Given the description of an element on the screen output the (x, y) to click on. 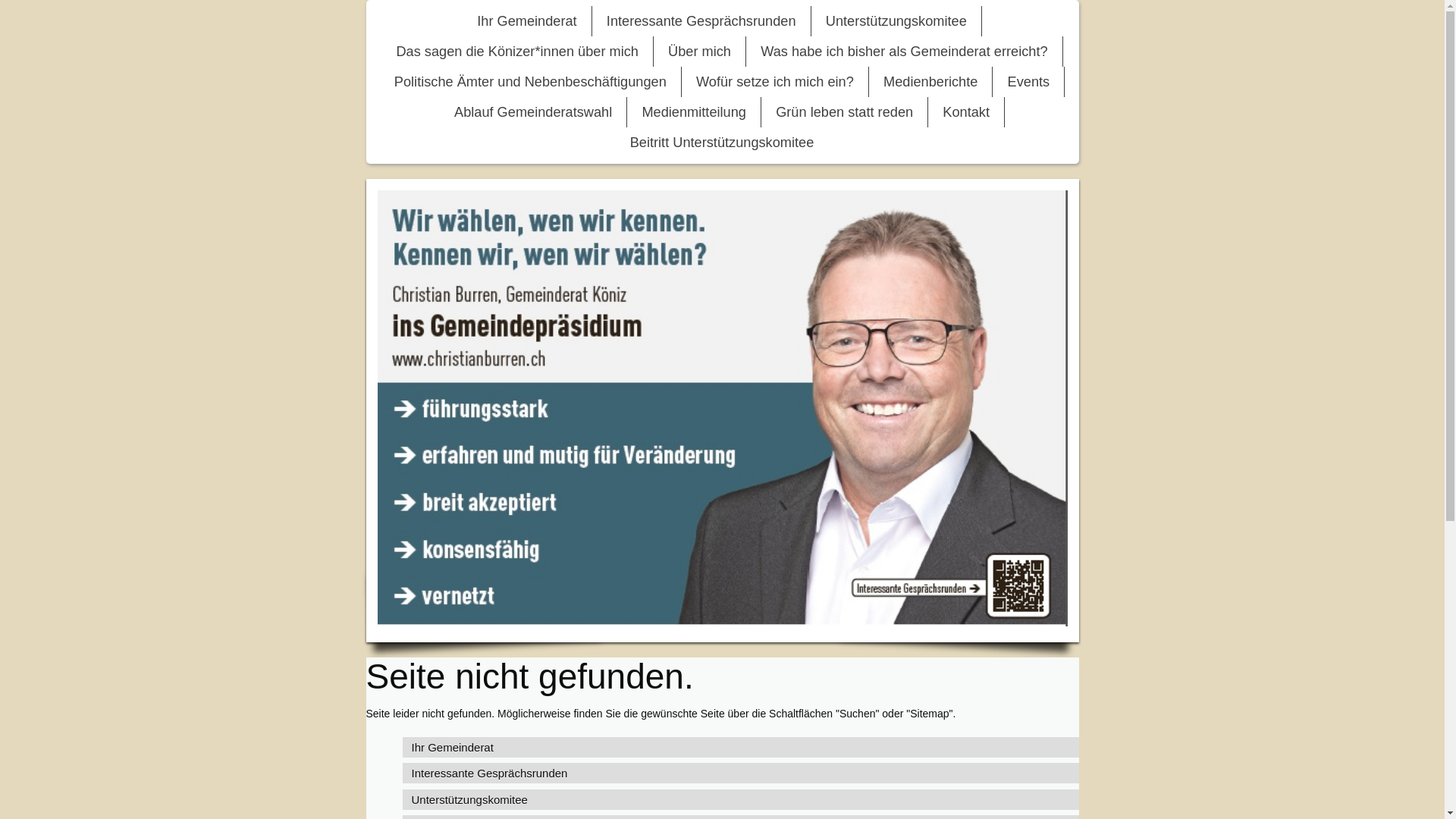
Ihr Gemeinderat Element type: text (526, 20)
Medienberichte Element type: text (930, 81)
Was habe ich bisher als Gemeinderat erreicht? Element type: text (903, 51)
Events Element type: text (1028, 81)
Medienmitteilung Element type: text (693, 111)
Kontakt Element type: text (966, 111)
Ablauf Gemeinderatswahl Element type: text (532, 111)
Ihr Gemeinderat Element type: text (739, 747)
